Given the description of an element on the screen output the (x, y) to click on. 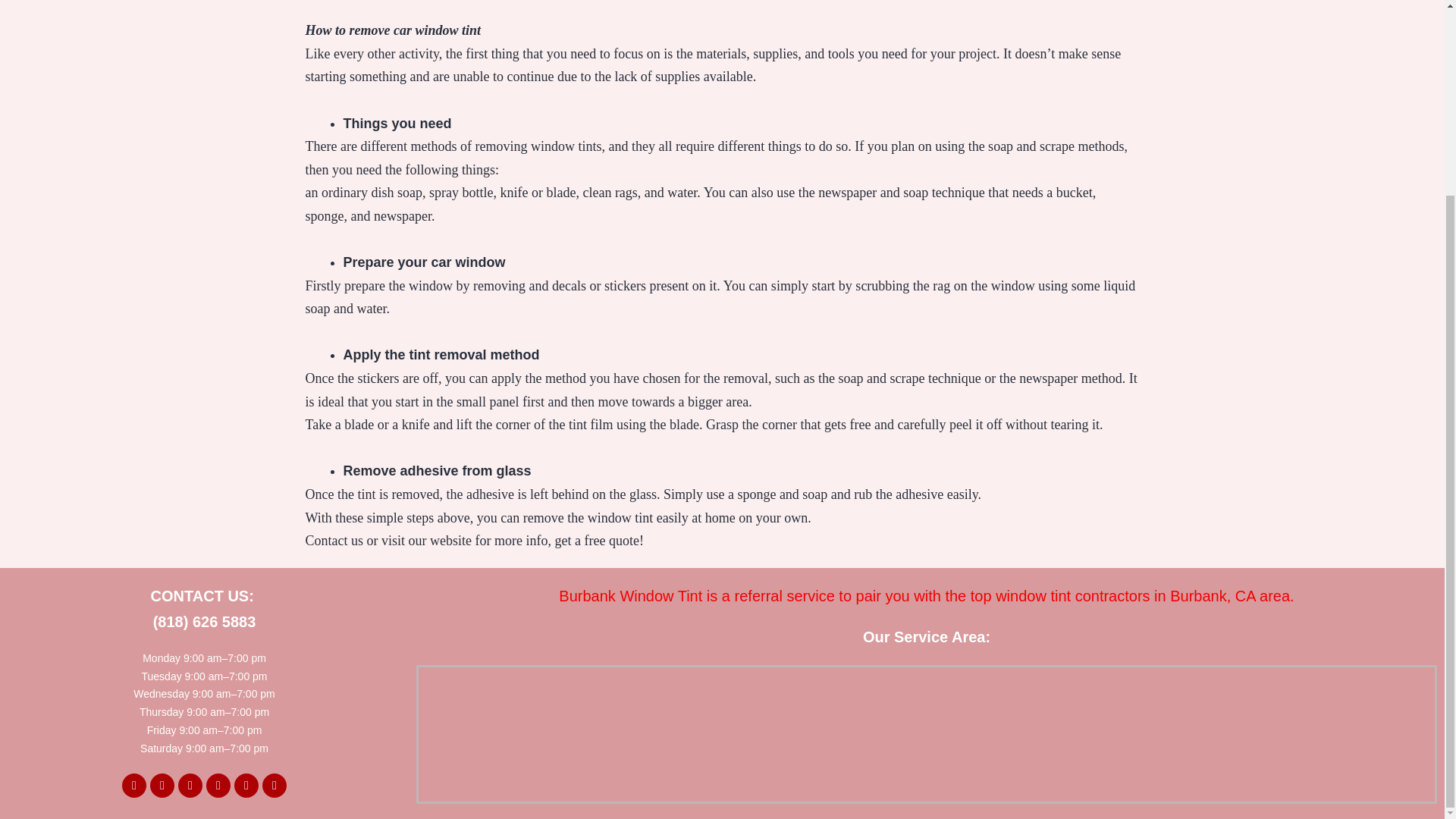
Contact us (333, 540)
website (450, 540)
